Given the description of an element on the screen output the (x, y) to click on. 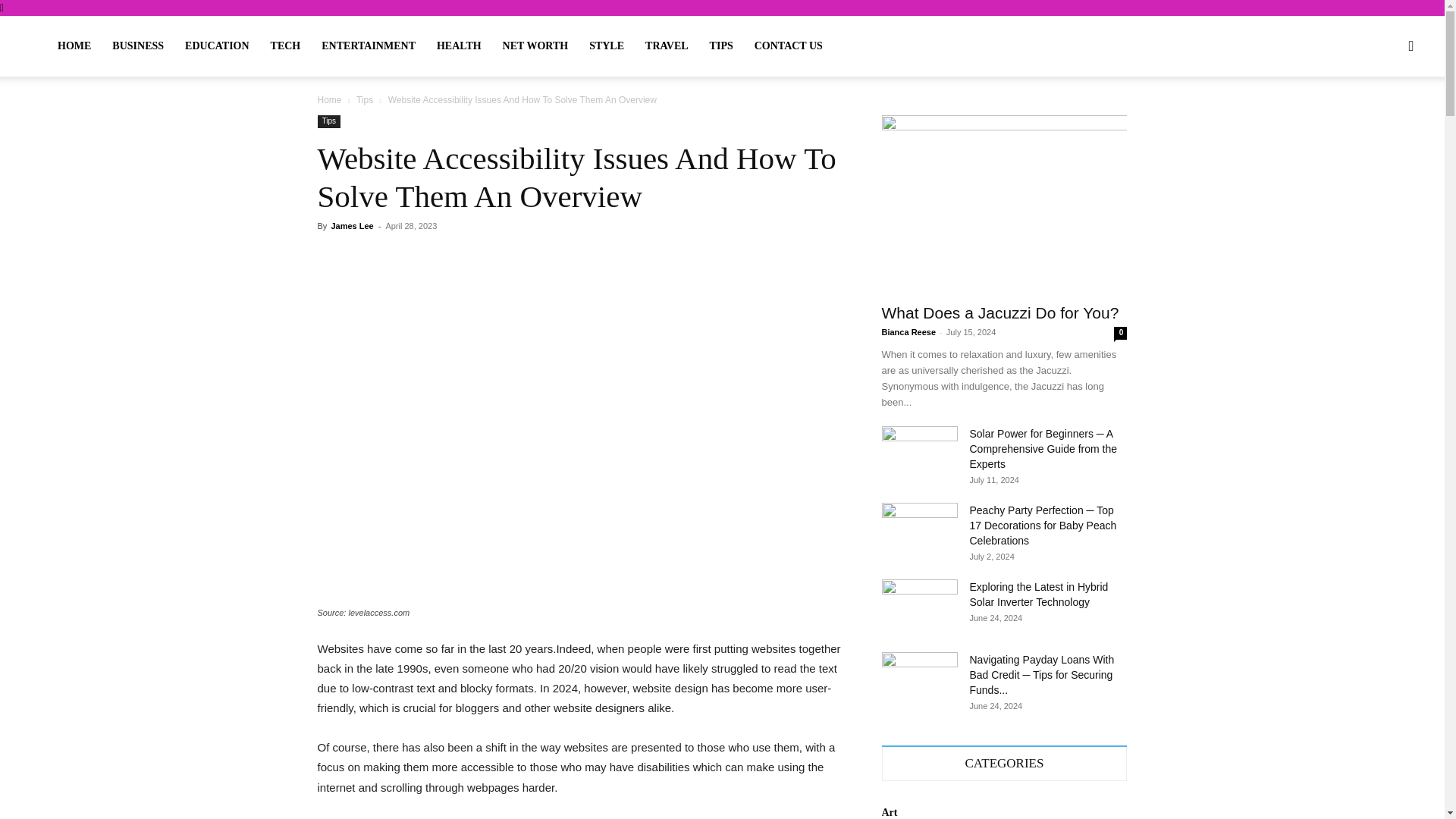
Home (328, 100)
NET WORTH (535, 45)
James Lee (351, 225)
HEALTH (459, 45)
TRAVEL (666, 45)
EDUCATION (217, 45)
HOME (73, 45)
View all posts in Tips (364, 100)
BUSINESS (137, 45)
ENTERTAINMENT (368, 45)
Tips (328, 121)
Search (1379, 119)
CONTACT US (788, 45)
STYLE (606, 45)
